Given the description of an element on the screen output the (x, y) to click on. 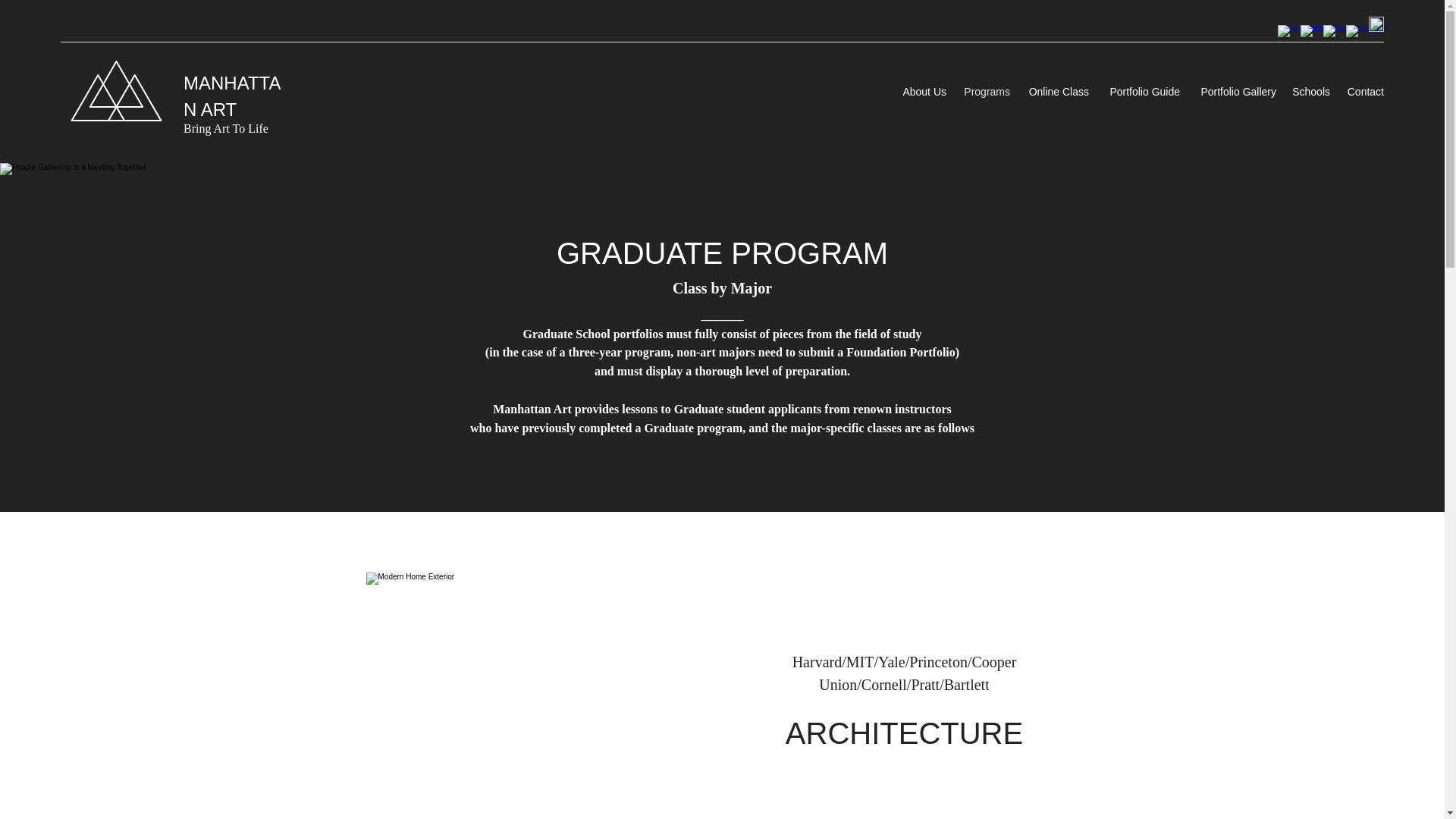
Portfolio Guide (1142, 91)
Programs (985, 91)
Contact (1364, 91)
Schools (1311, 91)
About Us (922, 91)
Online Class (1056, 91)
Portfolio Gallery (1236, 91)
